Given the description of an element on the screen output the (x, y) to click on. 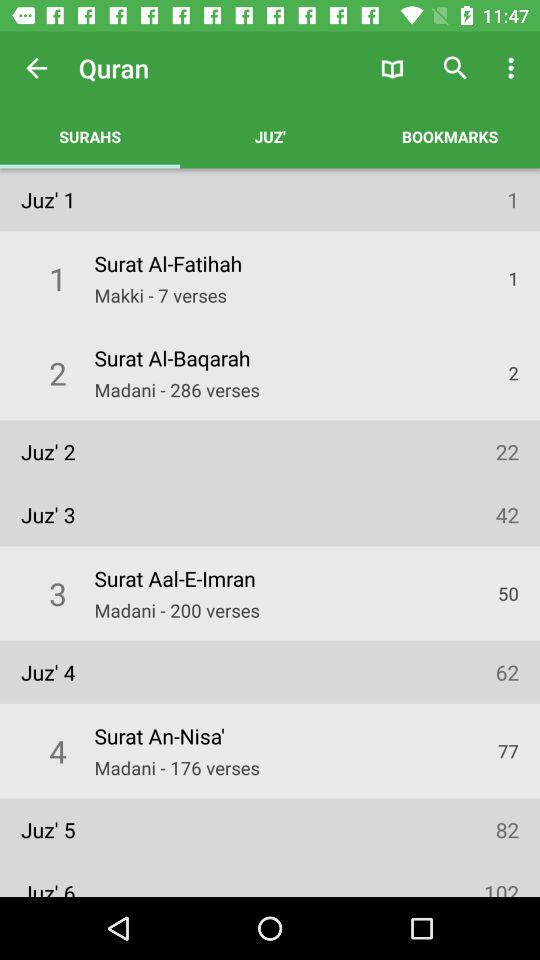
scroll to the bookmarks icon (450, 136)
